Given the description of an element on the screen output the (x, y) to click on. 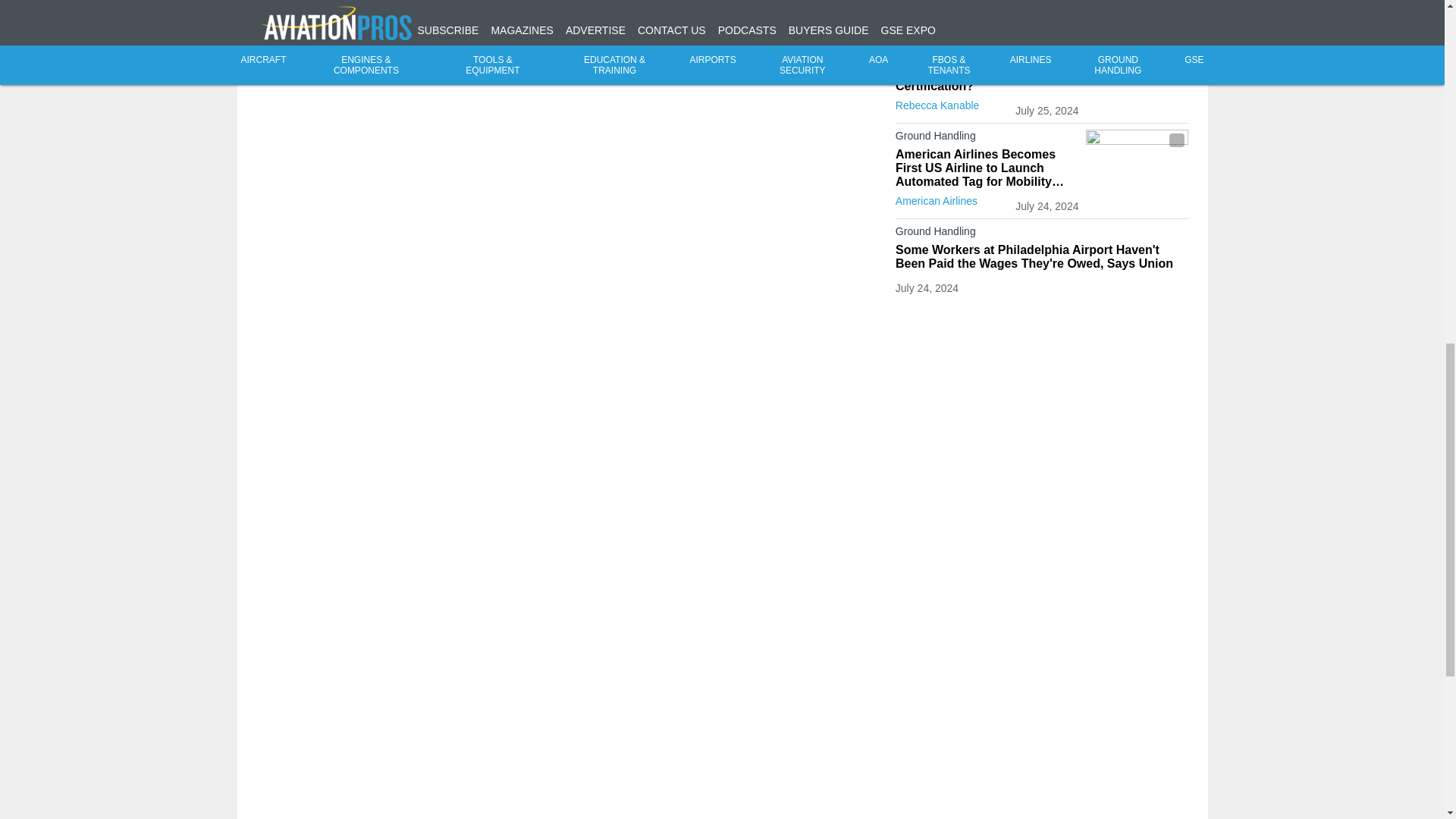
What is IATA's CEIV Pharma Certification? (986, 79)
Ground Handling (986, 56)
Talma (909, 23)
Rebecca Kanable (937, 105)
